Given the description of an element on the screen output the (x, y) to click on. 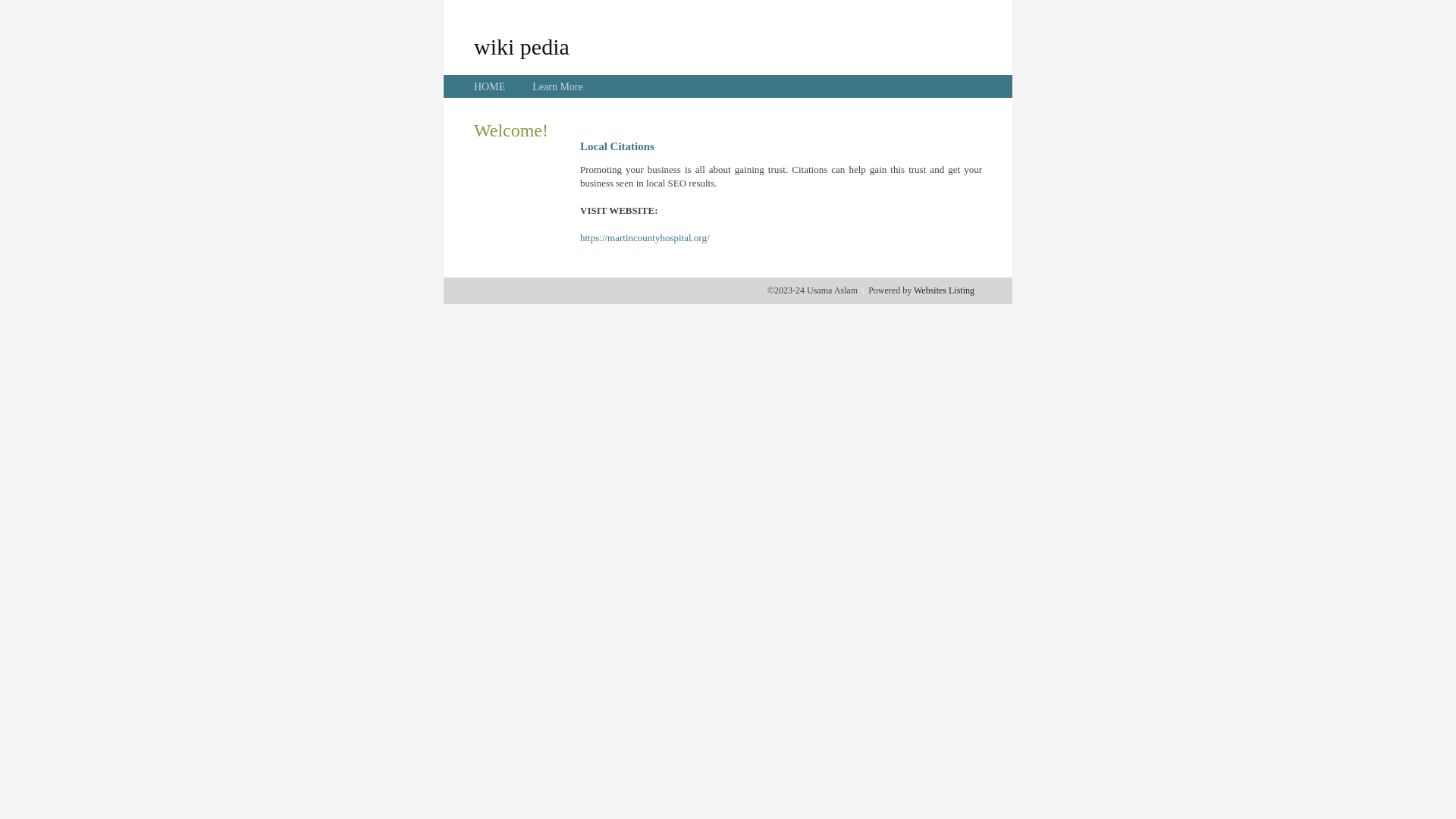
wiki pedia Element type: text (521, 46)
Learn More Element type: text (557, 86)
HOME Element type: text (489, 86)
Websites Listing Element type: text (943, 290)
https://martincountyhospital.org/ Element type: text (644, 237)
